Given the description of an element on the screen output the (x, y) to click on. 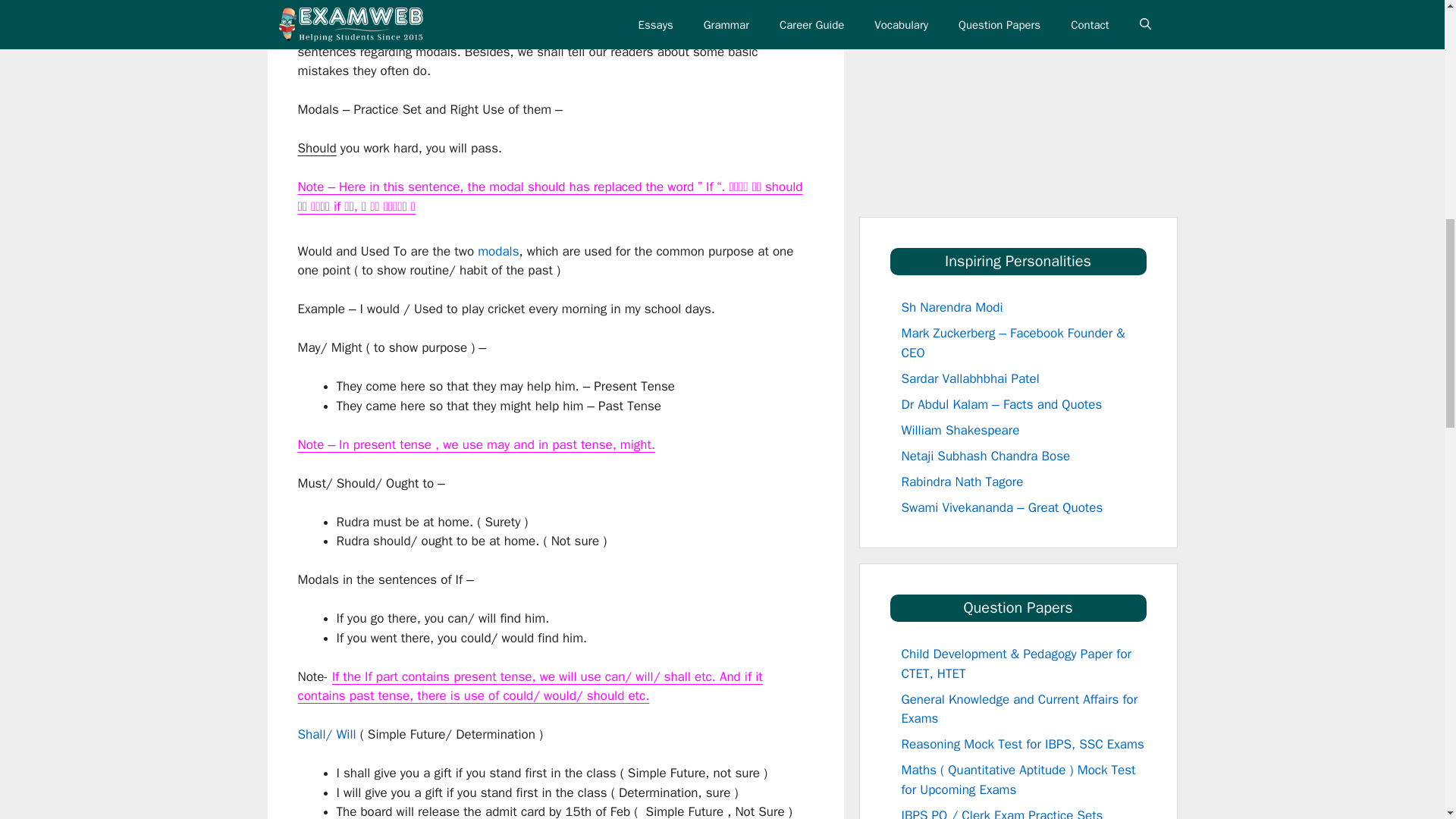
Adverse Impact of Internet (975, 1)
HBSE Exam Dates (348, 0)
modals (497, 250)
Sardar Vallabhbhai Patel (970, 377)
Sh Narendra Modi (952, 307)
William Shakespeare (960, 429)
Advertisement (1039, 125)
Netaji Subhash Chandra Bose (985, 455)
Scroll back to top (1406, 720)
